Given the description of an element on the screen output the (x, y) to click on. 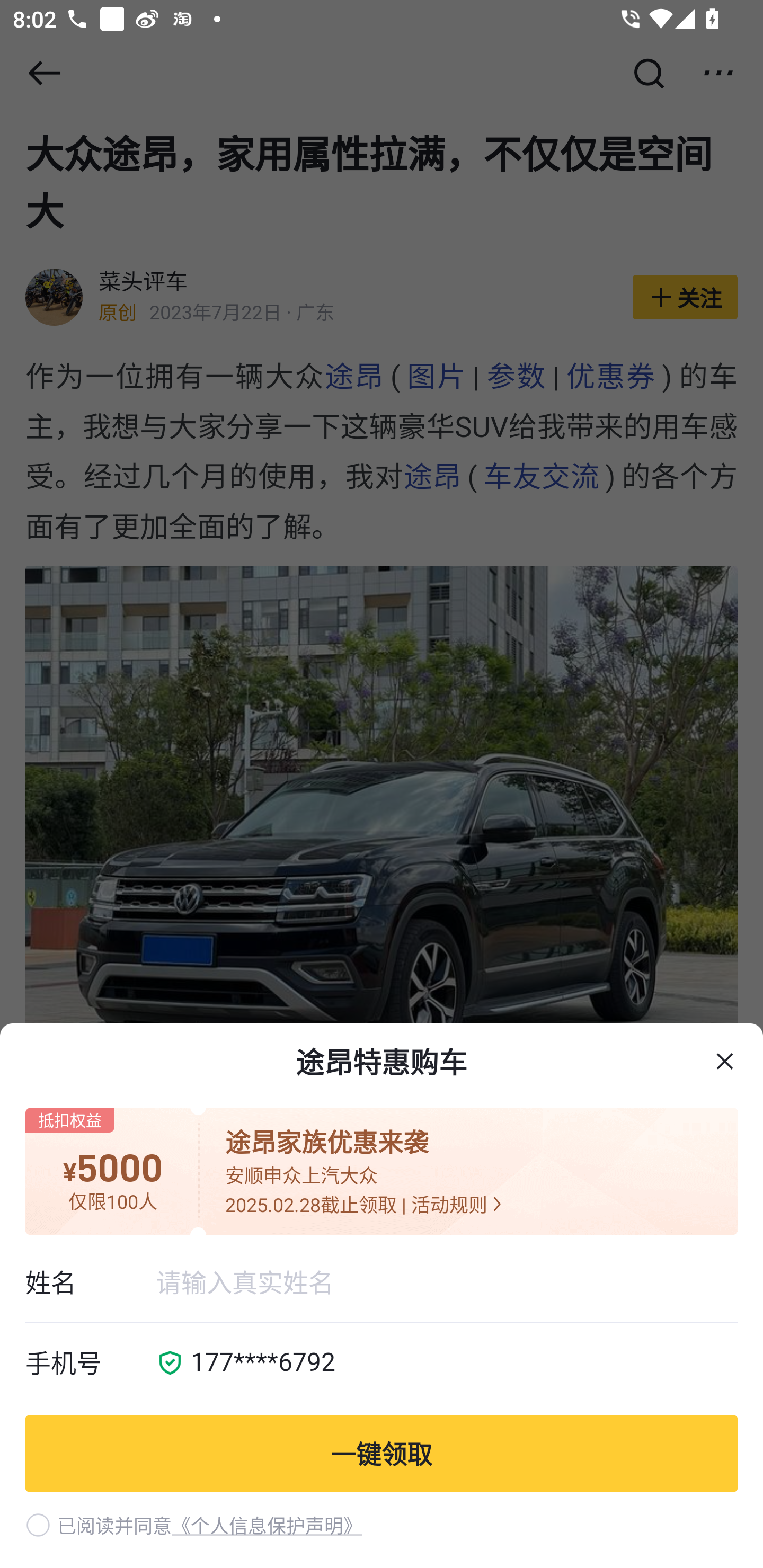
 (724, 1061)
 |  活动规则  (451, 1203)
姓名 (90, 1282)
请输入真实姓名 (446, 1282)
手机号 (90, 1363)
177****6792 (457, 1363)
一键领取 (381, 1453)
